Given the description of an element on the screen output the (x, y) to click on. 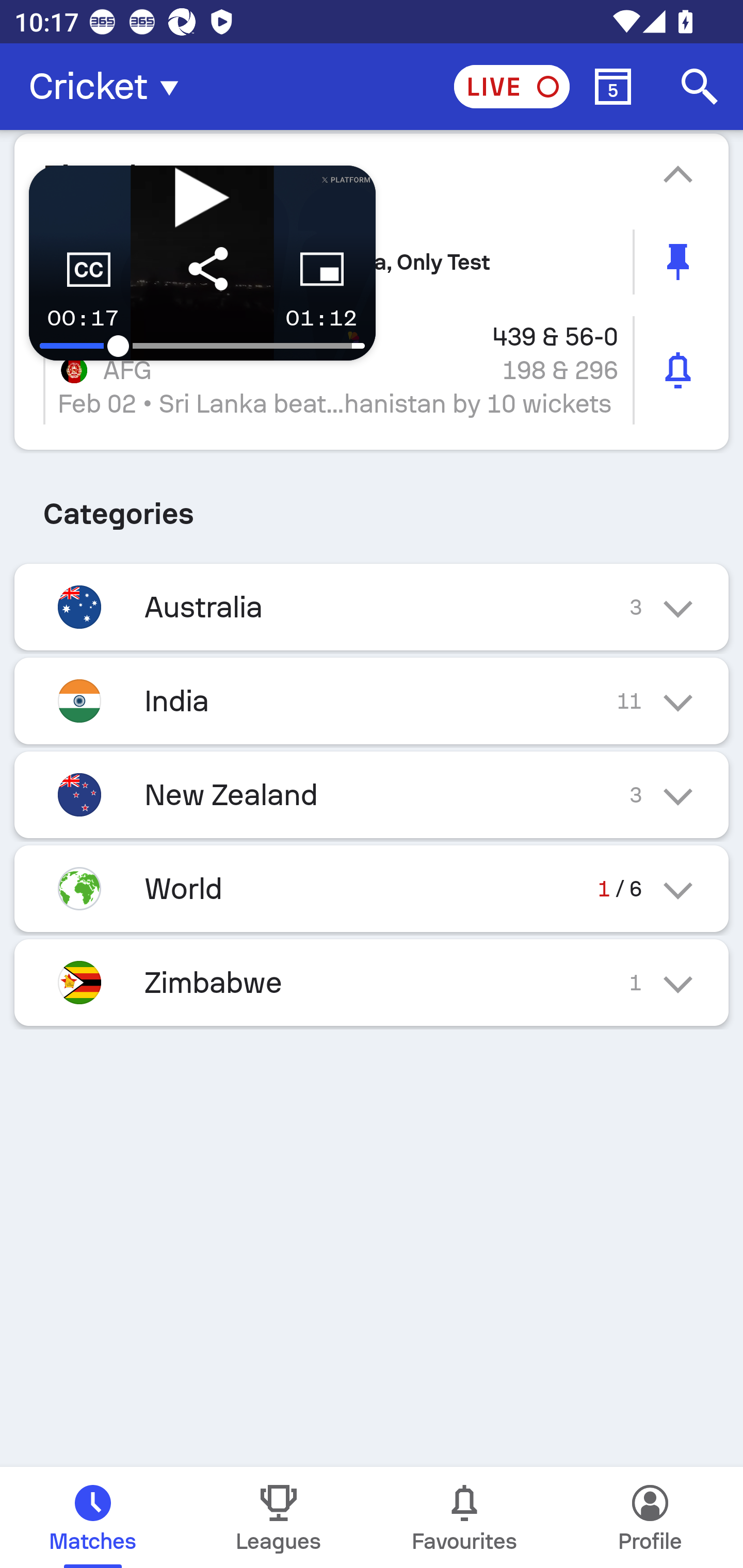
Cricket (109, 86)
Calendar (612, 86)
Search (699, 86)
Categories (371, 506)
Australia 3 (371, 607)
India 11 (371, 700)
New Zealand 3 (371, 794)
World 1 / 6 (371, 888)
Zimbabwe 1 (371, 982)
Leagues (278, 1517)
Favourites (464, 1517)
Profile (650, 1517)
